Given the description of an element on the screen output the (x, y) to click on. 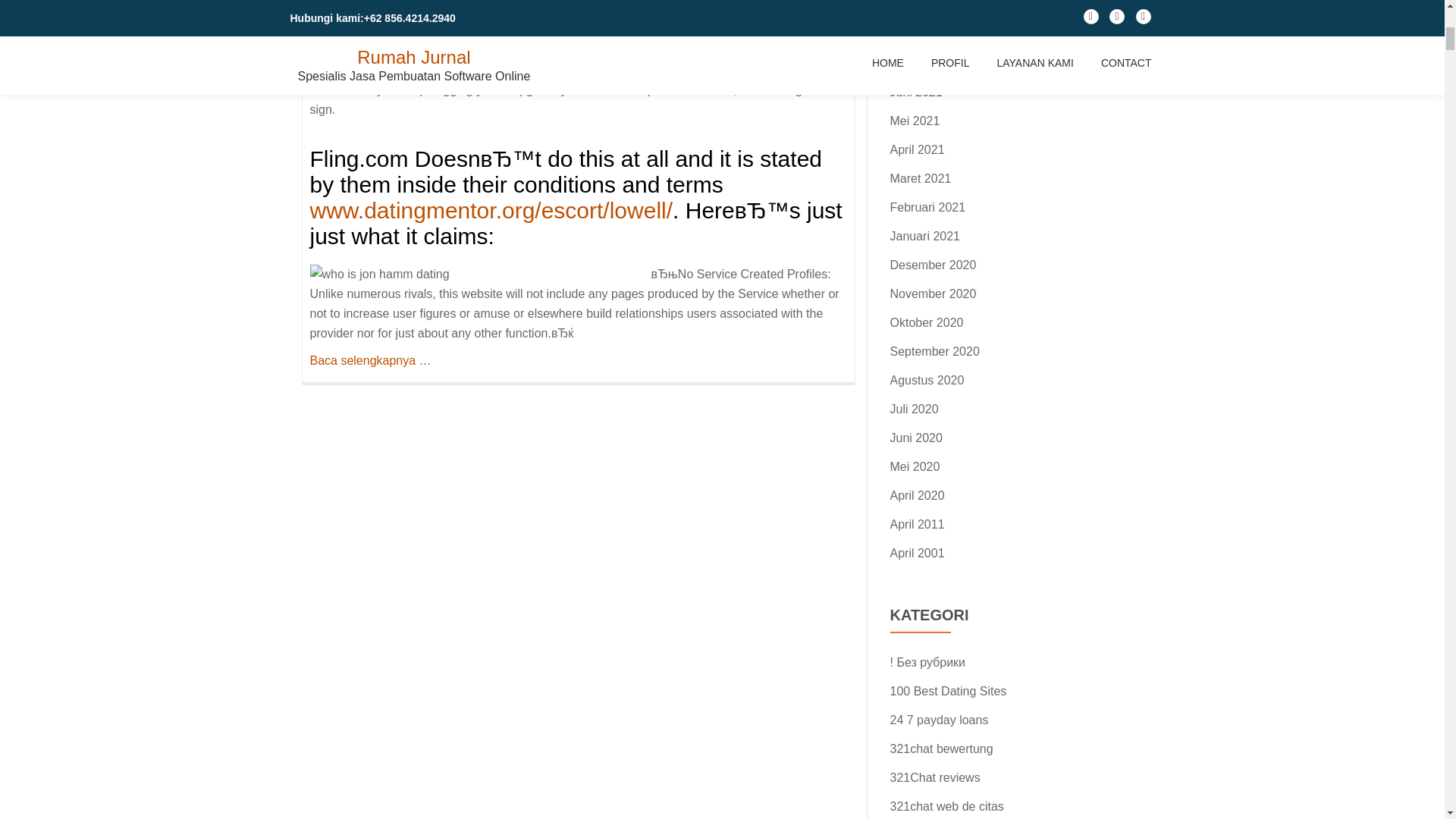
Maret 2021 (920, 178)
April 2021 (916, 149)
Juli 2021 (914, 62)
Juni 2021 (915, 91)
Mei 2021 (914, 120)
Agustus 2021 (926, 33)
